Given the description of an element on the screen output the (x, y) to click on. 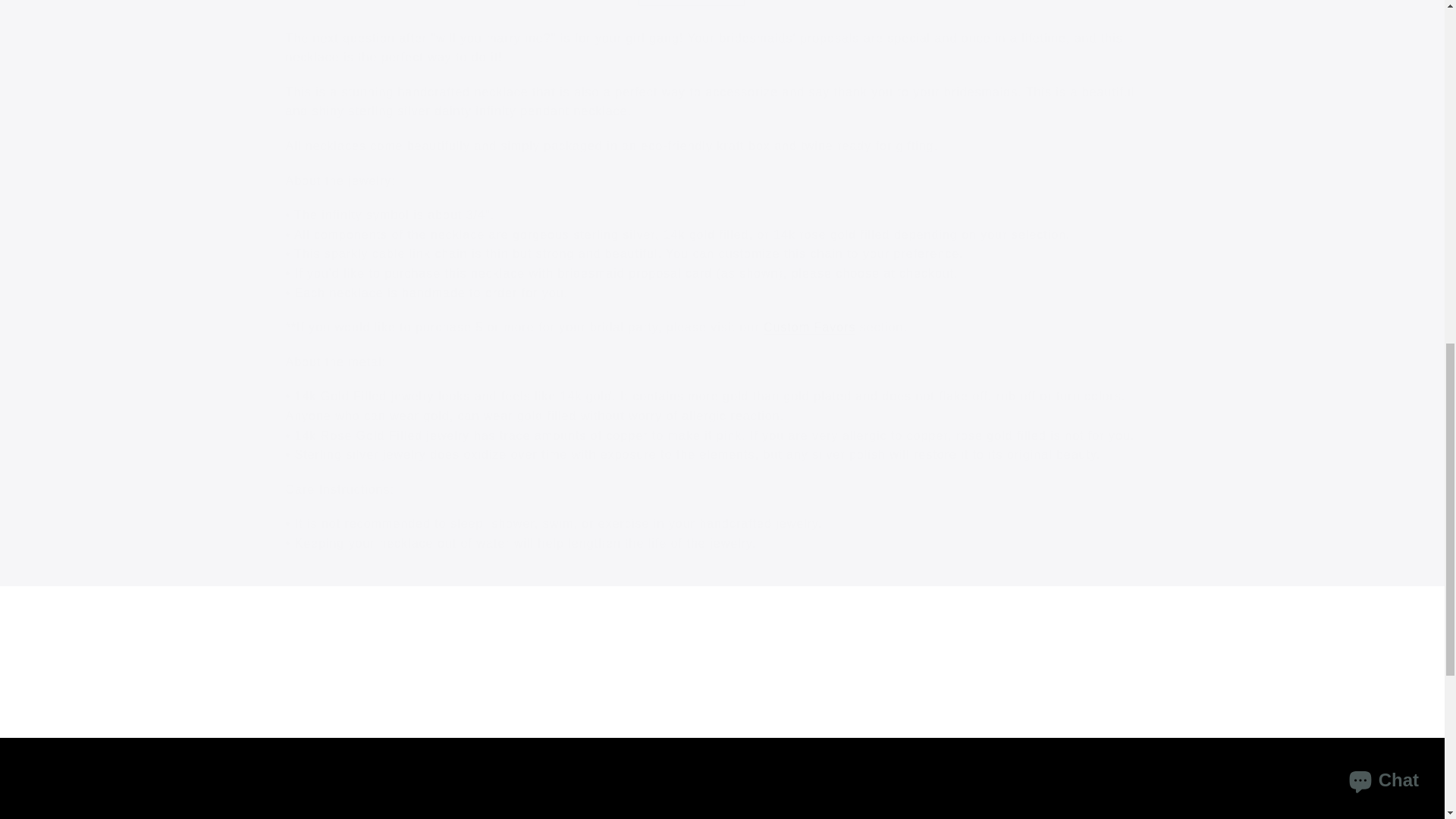
Custom Favors (809, 327)
Reviews (781, 2)
Custom Favors (809, 327)
Description (691, 2)
